Given the description of an element on the screen output the (x, y) to click on. 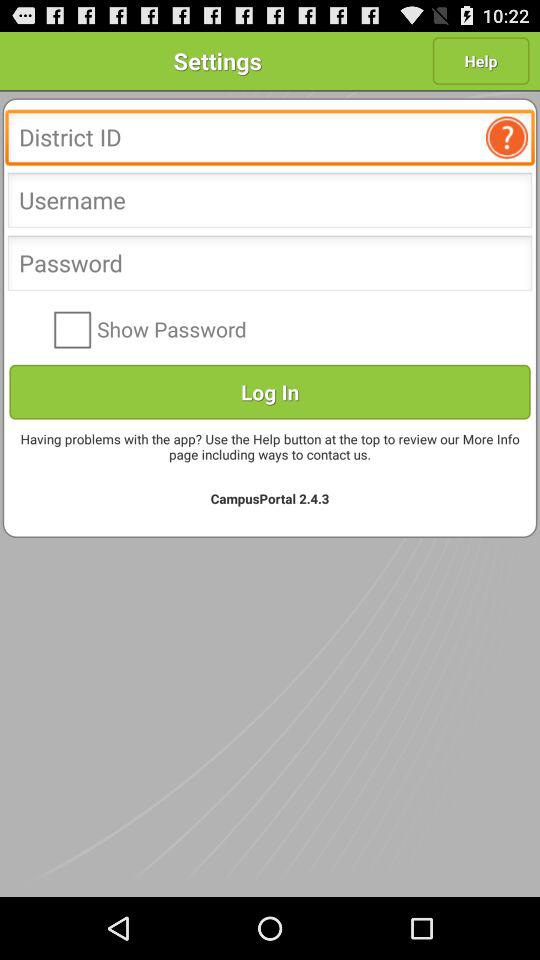
scroll until log in item (269, 391)
